Given the description of an element on the screen output the (x, y) to click on. 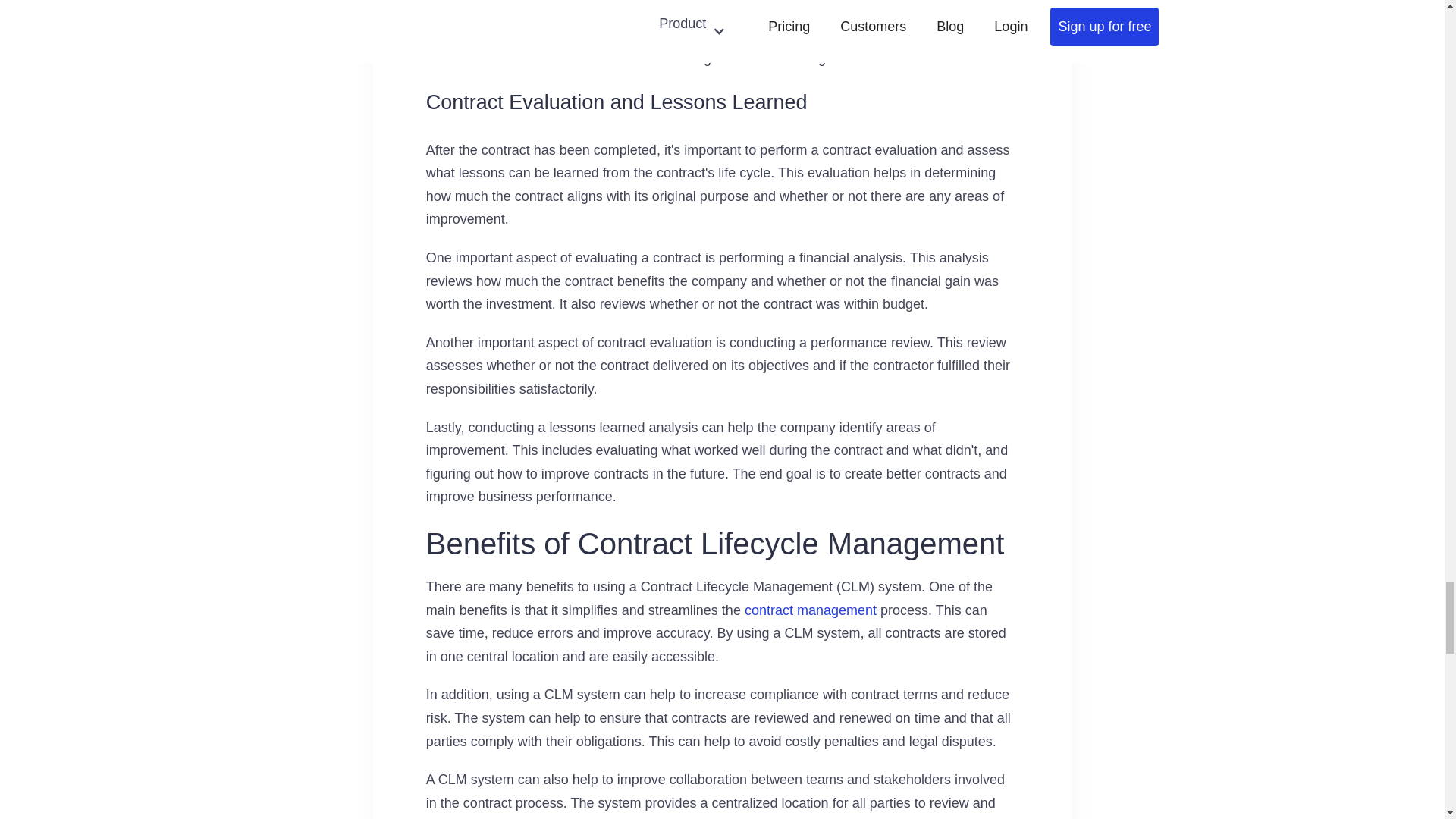
contract management (810, 610)
